Given the description of an element on the screen output the (x, y) to click on. 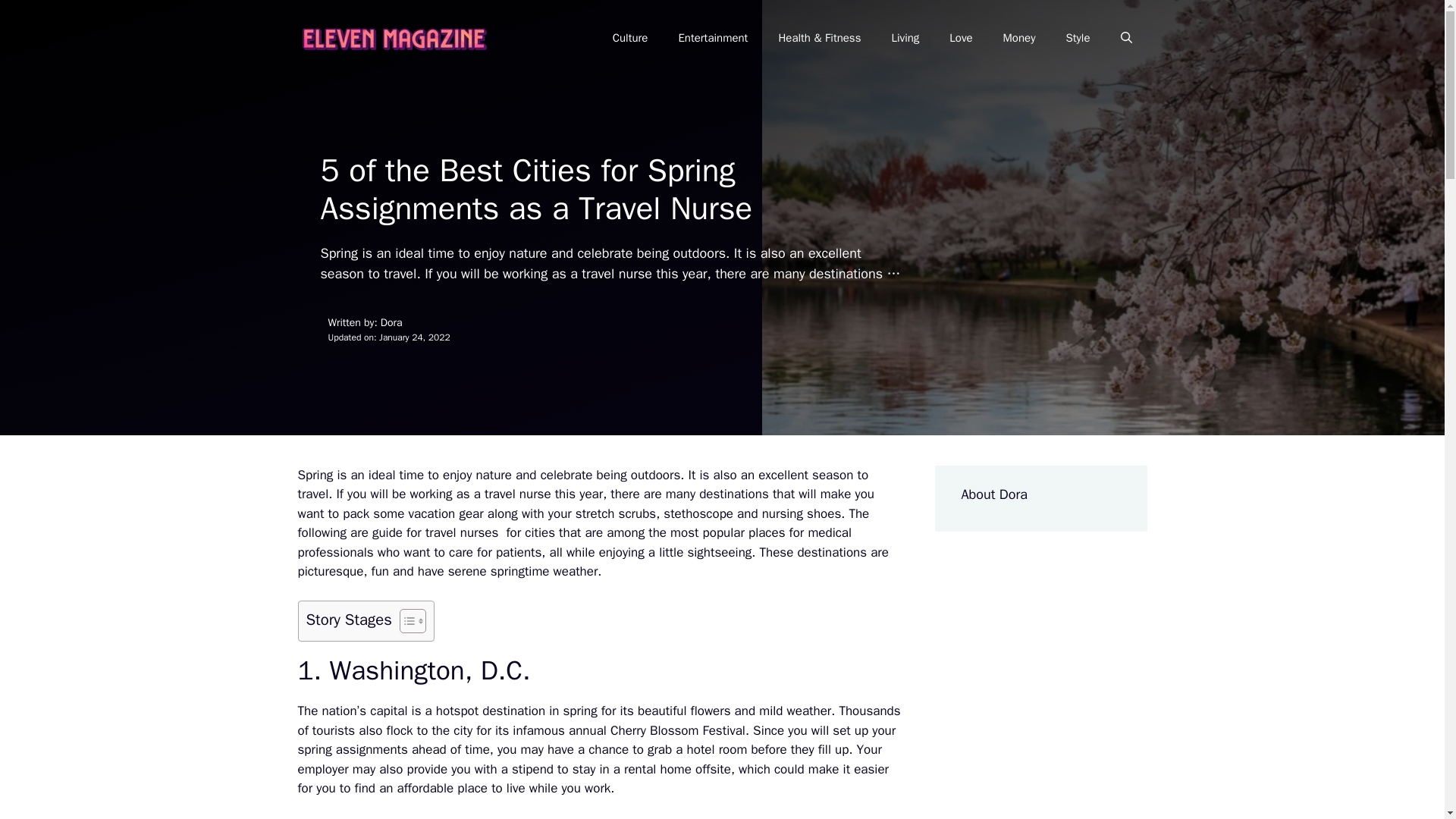
Culture (629, 37)
guide for travel nurses (434, 532)
nursing shoes (801, 513)
Style (1077, 37)
Cherry Blossom Festival (677, 730)
Love (960, 37)
Money (1019, 37)
stretch scrubs (615, 513)
Entertainment (712, 37)
Living (905, 37)
